Given the description of an element on the screen output the (x, y) to click on. 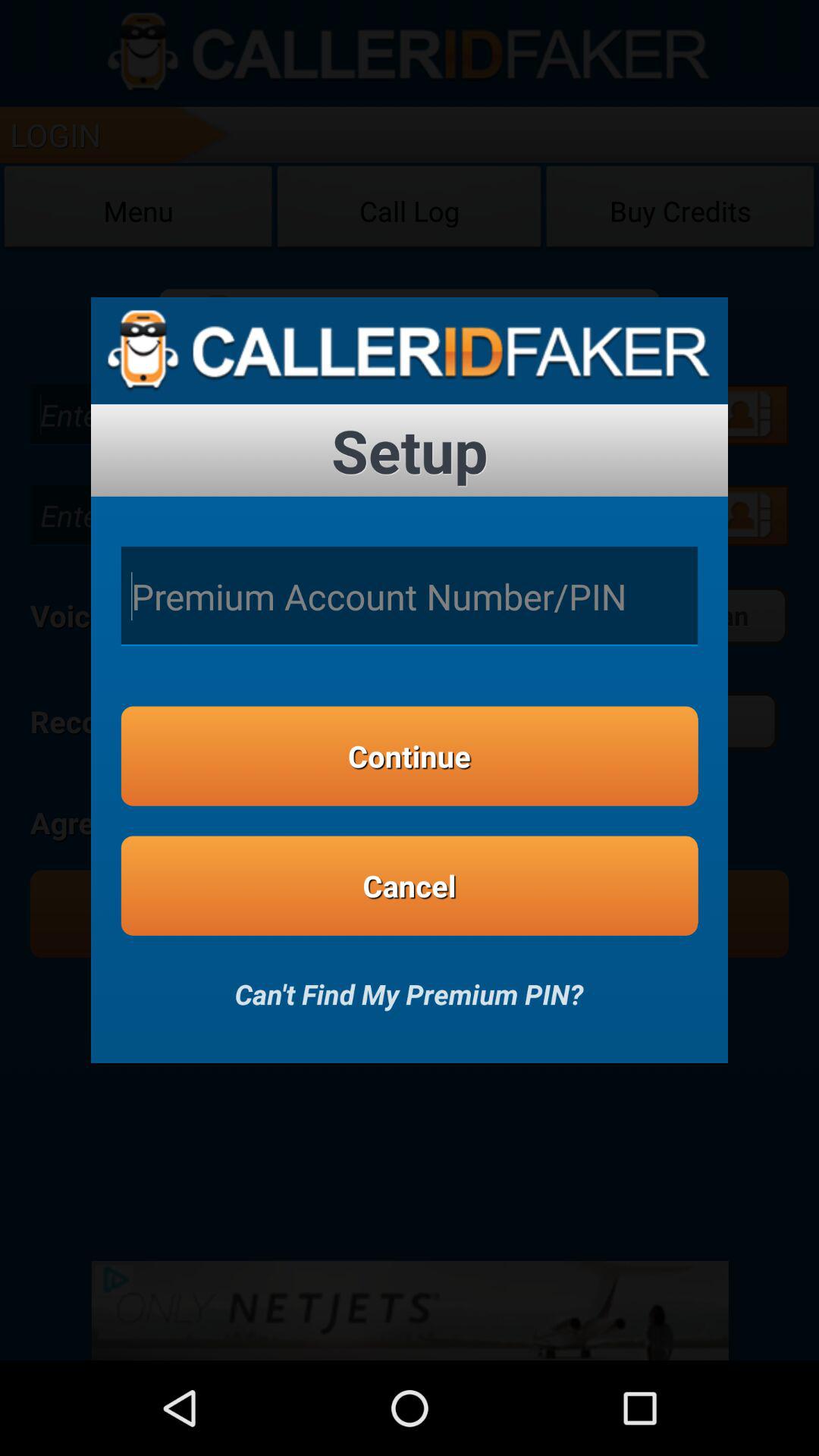
press the icon below the cancel (408, 983)
